Given the description of an element on the screen output the (x, y) to click on. 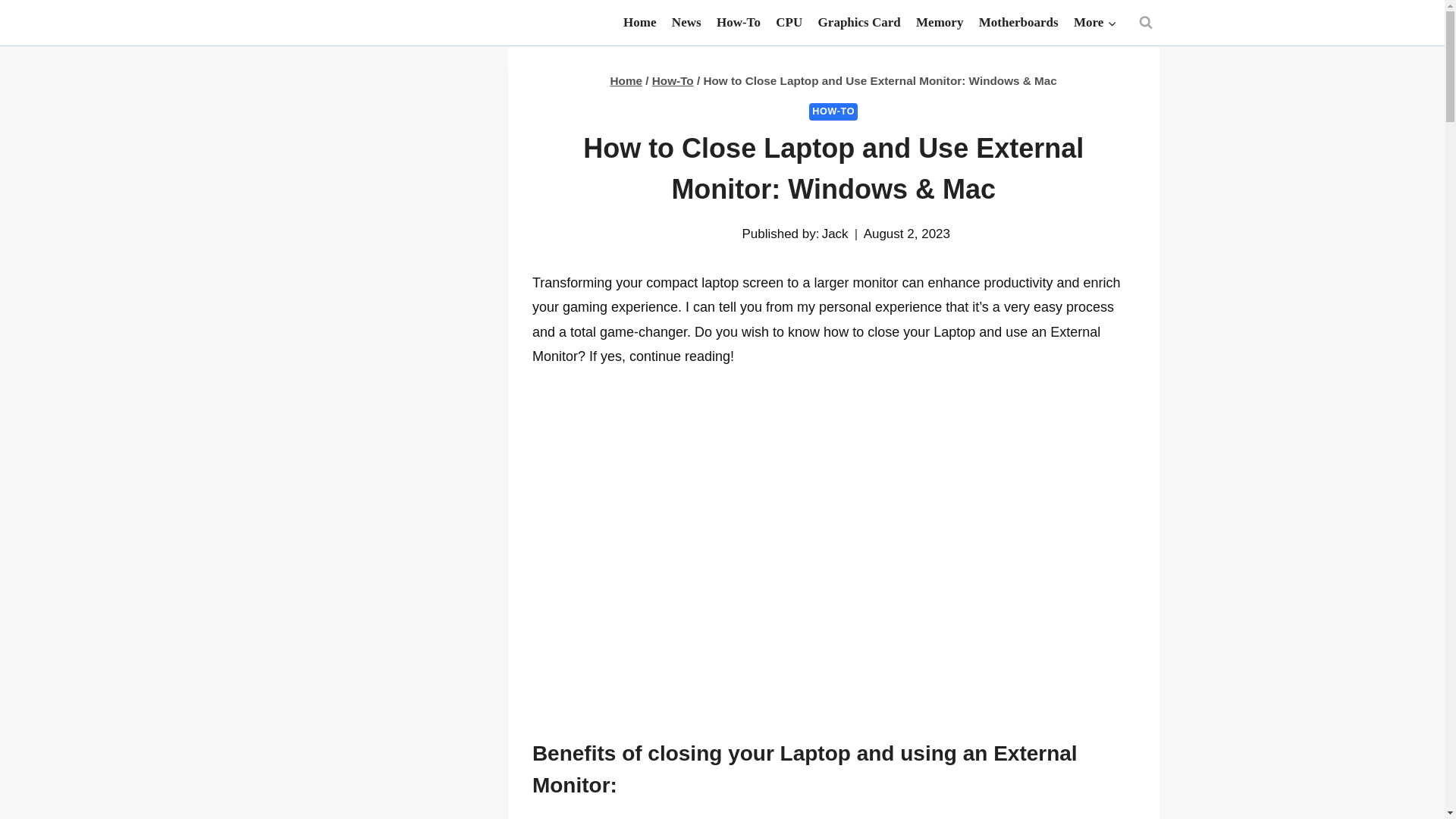
News (686, 22)
Home (639, 22)
Memory (939, 22)
Motherboards (1018, 22)
Jack (835, 233)
How-To (738, 22)
How-To (673, 80)
CPU (788, 22)
Home (626, 80)
More (1094, 22)
Graphics Card (858, 22)
HOW-TO (833, 111)
